Given the description of an element on the screen output the (x, y) to click on. 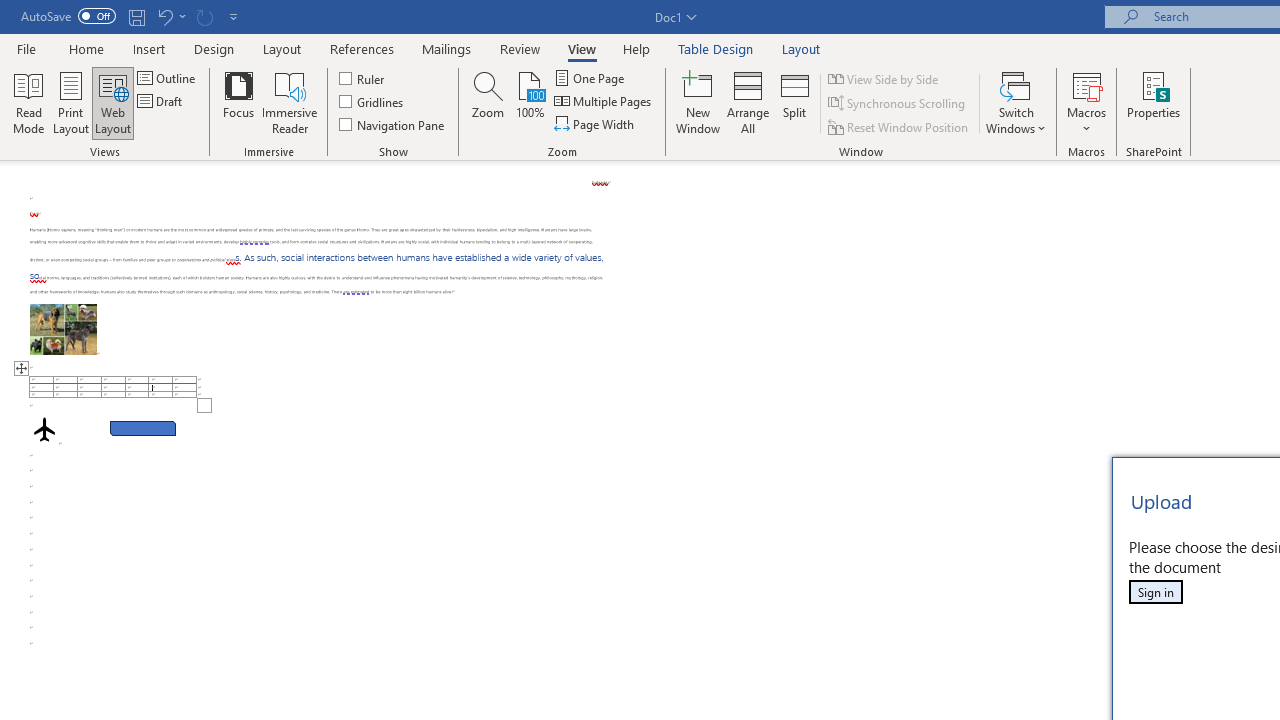
Immersive Reader (289, 102)
New Window (698, 102)
Rectangle: Diagonal Corners Snipped 2 (143, 428)
Switch Windows (1016, 102)
Sign in (1155, 592)
Focus (238, 102)
Draft (161, 101)
100% (529, 102)
Undo Row Height Spinner (170, 15)
